Given the description of an element on the screen output the (x, y) to click on. 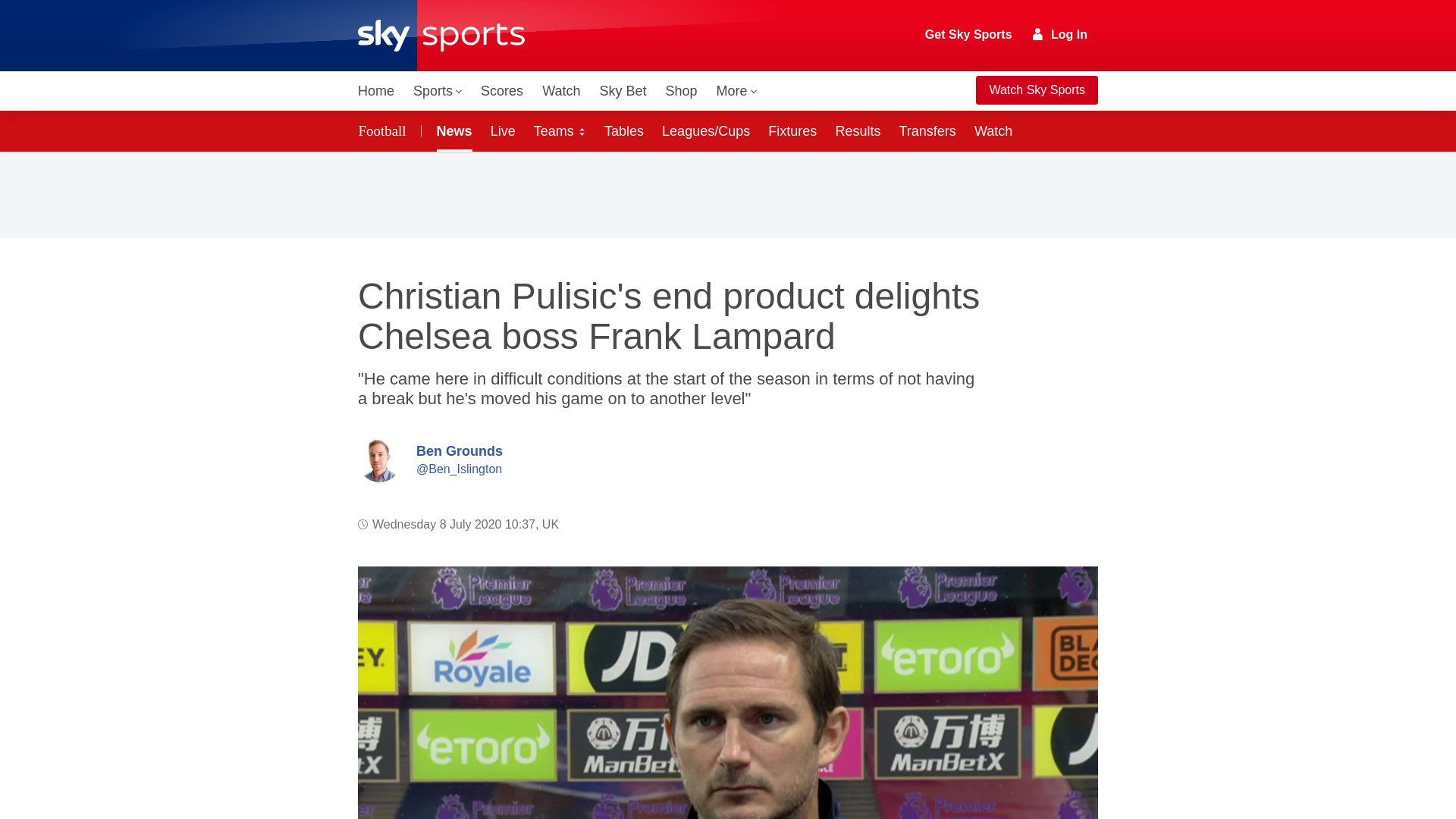
Get Sky Sports (968, 34)
Football (385, 130)
More (736, 91)
Shop (681, 91)
Sports (437, 91)
Scores (502, 91)
Log In (1060, 33)
Sky Bet (622, 91)
News (451, 130)
Watch Sky Sports (1036, 90)
